Given the description of an element on the screen output the (x, y) to click on. 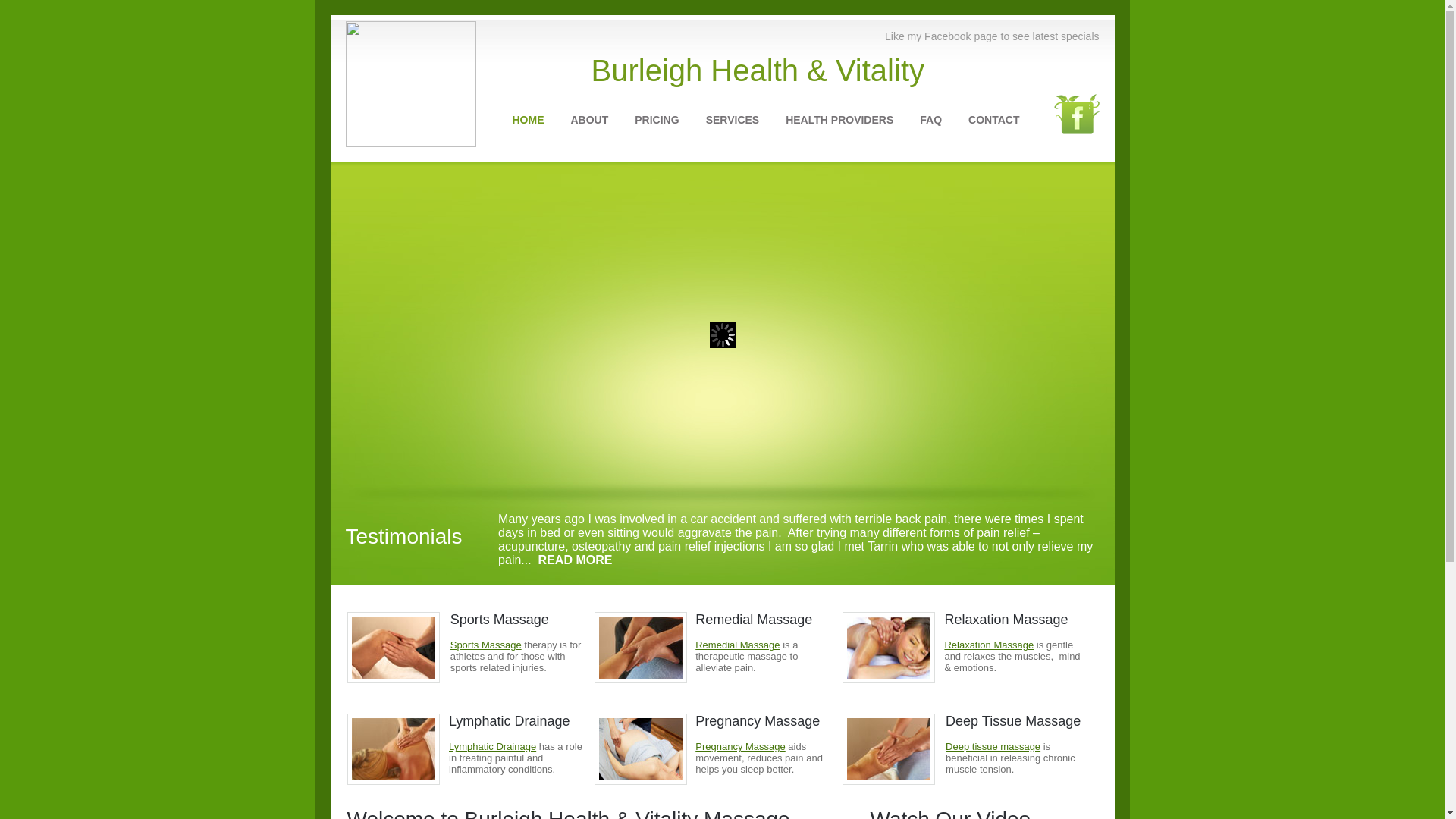
Lymphatic Drainage Element type: text (492, 746)
CONTACT Element type: text (993, 119)
PRICING Element type: text (656, 119)
HEALTH PROVIDERS Element type: text (839, 119)
Sports Massage Element type: text (485, 644)
Remedial Massage Element type: text (737, 644)
ABOUT Element type: text (589, 119)
HOME Element type: text (528, 119)
Deep tissue massage Element type: text (992, 746)
Relaxation Massage Element type: text (988, 644)
Like my Facebook page to see latest specials Element type: text (991, 36)
SERVICES Element type: text (732, 119)
READ MORE Element type: text (575, 559)
Pregnancy Massage Element type: text (740, 746)
FAQ Element type: text (930, 119)
